Given the description of an element on the screen output the (x, y) to click on. 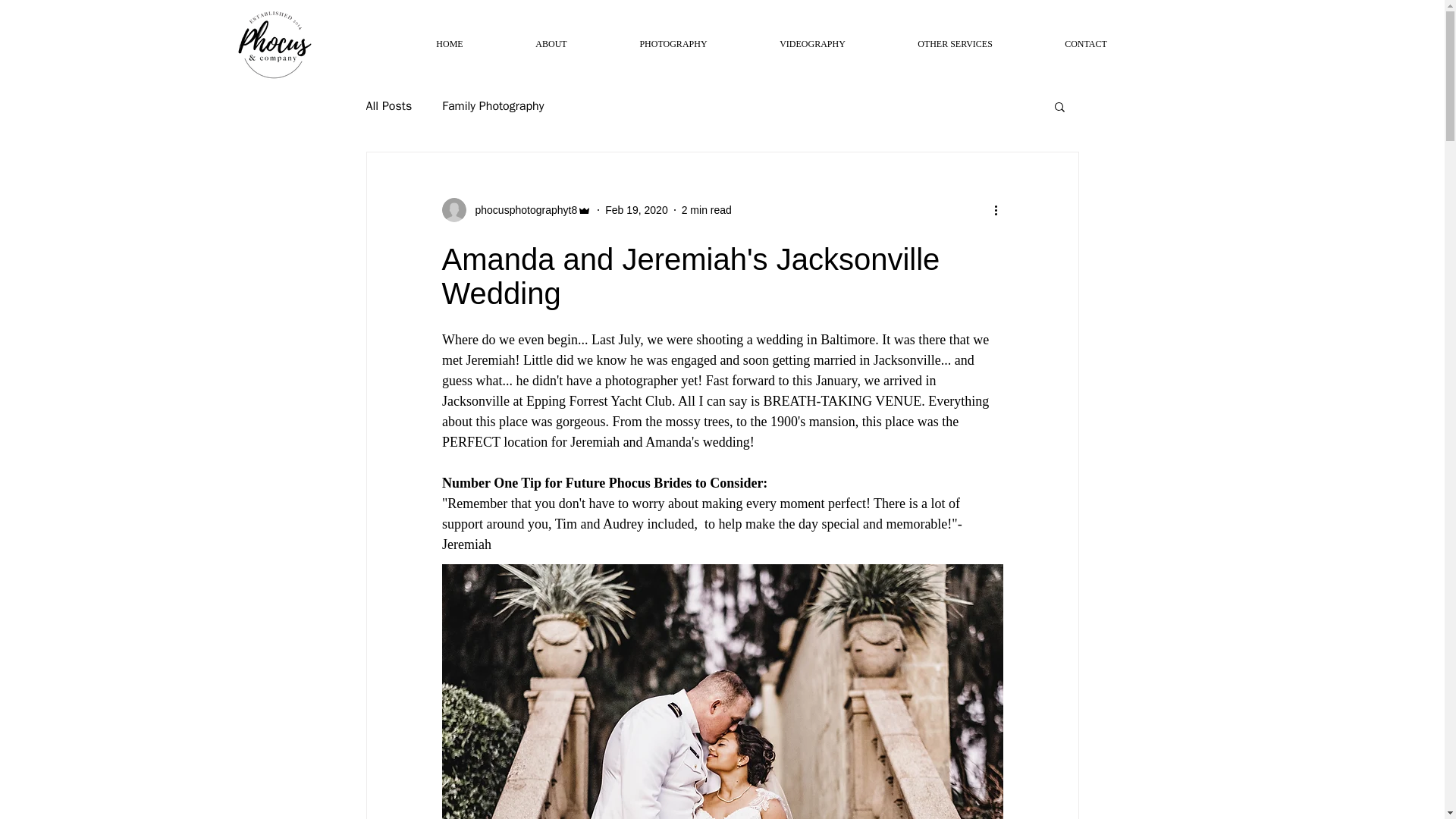
PHOTOGRAPHY (674, 44)
Feb 19, 2020 (636, 209)
Family Photography (492, 106)
CONTACT (1084, 44)
VIDEOGRAPHY (811, 44)
HOME (449, 44)
phocusphotographyt8 (520, 209)
2 min read (706, 209)
phocusphotographyt8 (516, 209)
All Posts (388, 106)
